Given the description of an element on the screen output the (x, y) to click on. 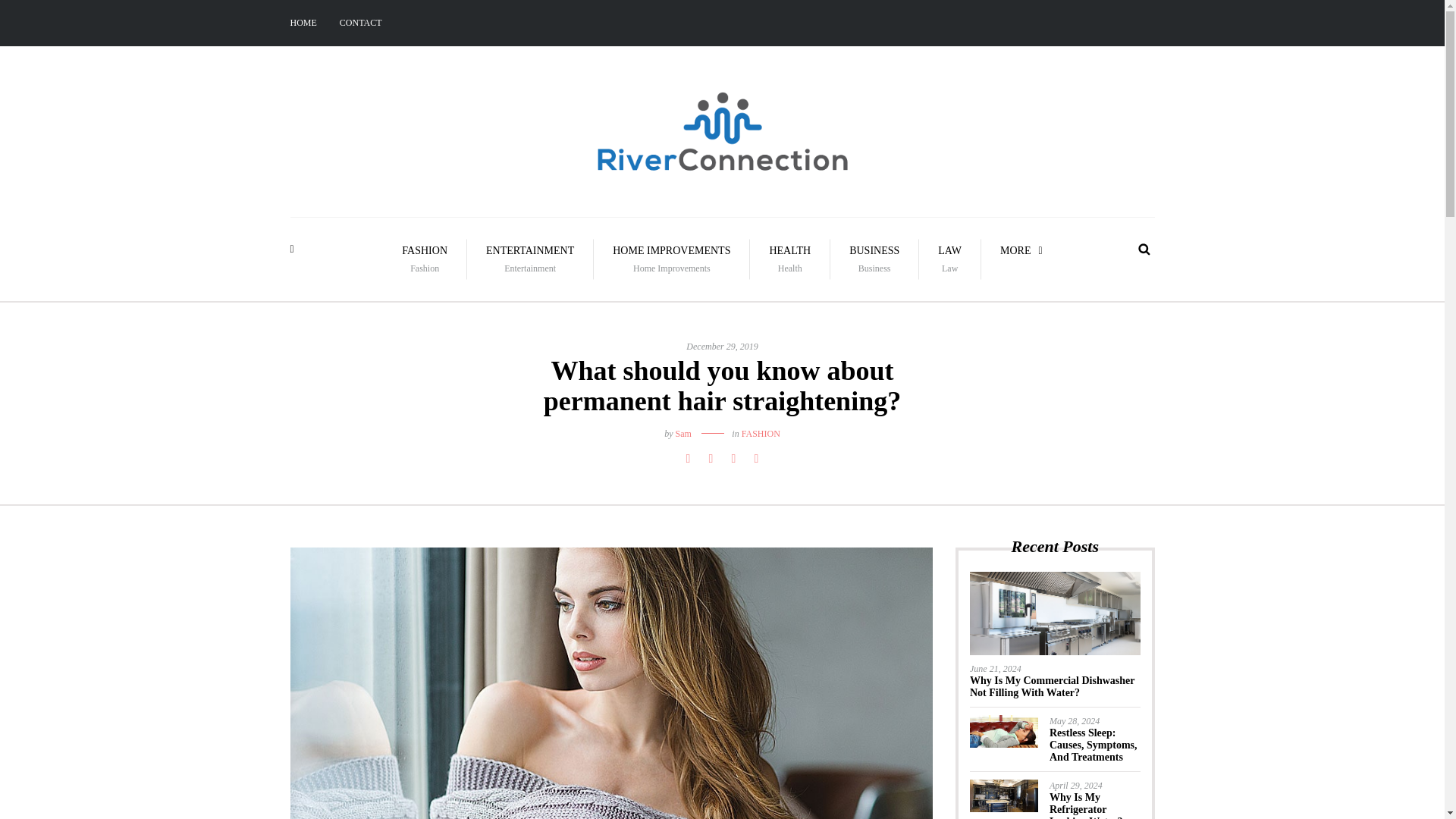
Pin this (755, 458)
Sam (682, 433)
CONTACT (361, 22)
FASHION (760, 433)
Posts by Sam (949, 259)
Share with Google Plus (682, 433)
Tweet this (733, 458)
MORE (710, 458)
Share this (424, 259)
